Given the description of an element on the screen output the (x, y) to click on. 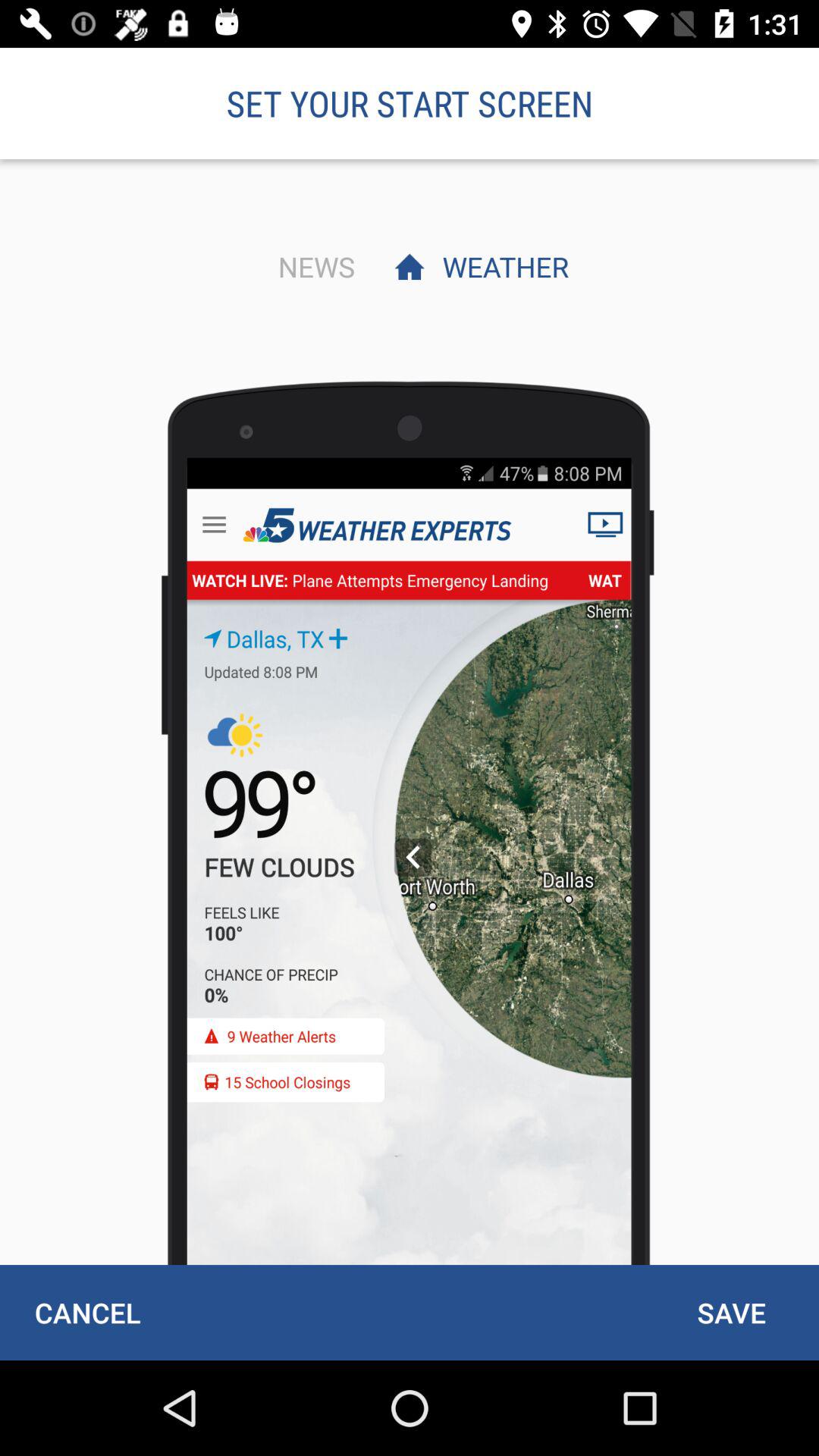
turn off the icon below set your start item (501, 266)
